Given the description of an element on the screen output the (x, y) to click on. 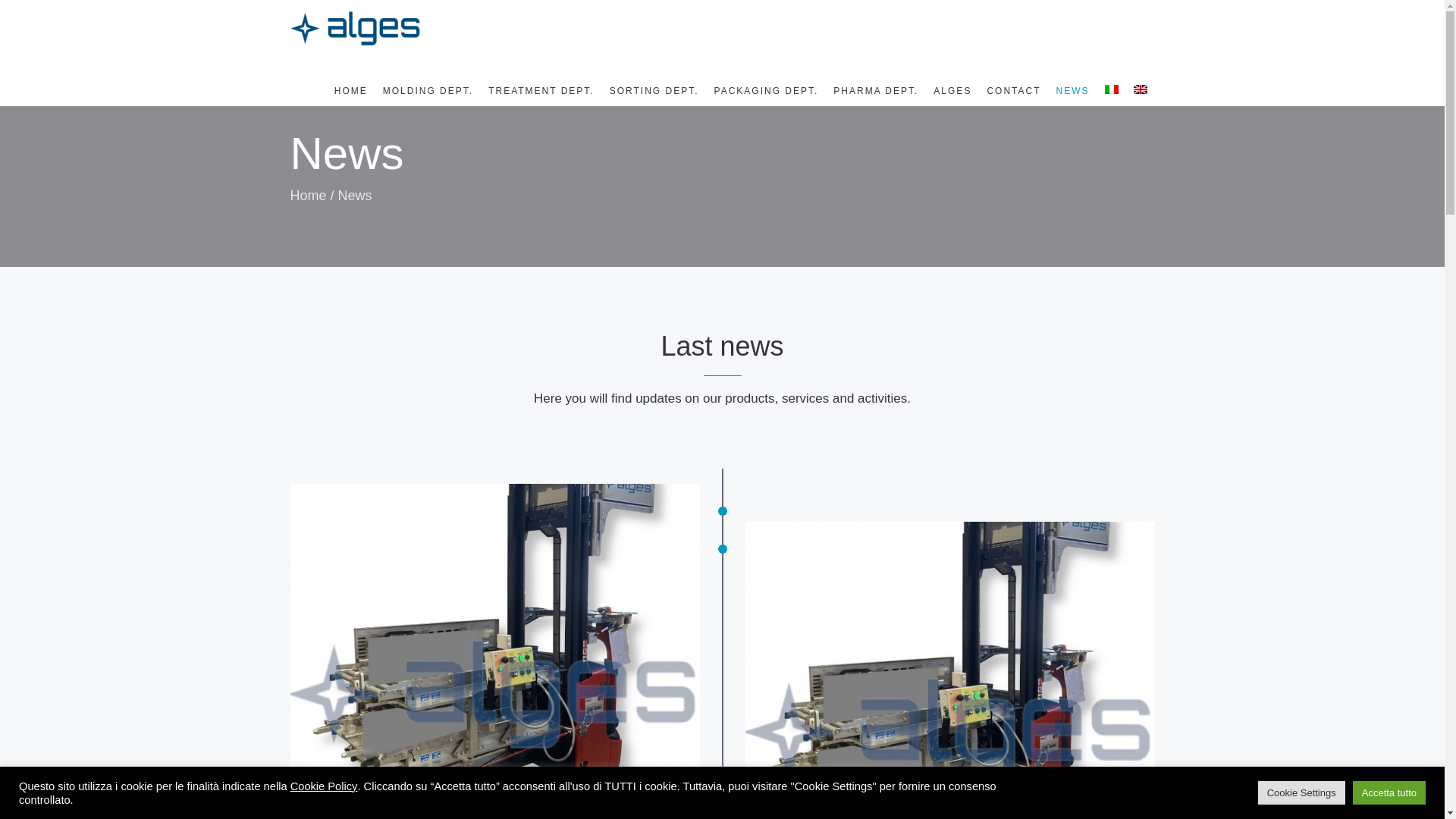
MOULD CHANGE TROLLEY for VERTICAL presses (482, 813)
PHARMA DEPT. (875, 90)
MOLDING DEPT. (427, 90)
PACKAGING DEPT. (766, 90)
Carrello per cambio stampi verticali (493, 637)
SORTING DEPT. (654, 90)
TREATMENT DEPT. (541, 90)
CONTACT (1013, 90)
Home (307, 195)
Carrello per cambio stampi verticali (949, 670)
